Given the description of an element on the screen output the (x, y) to click on. 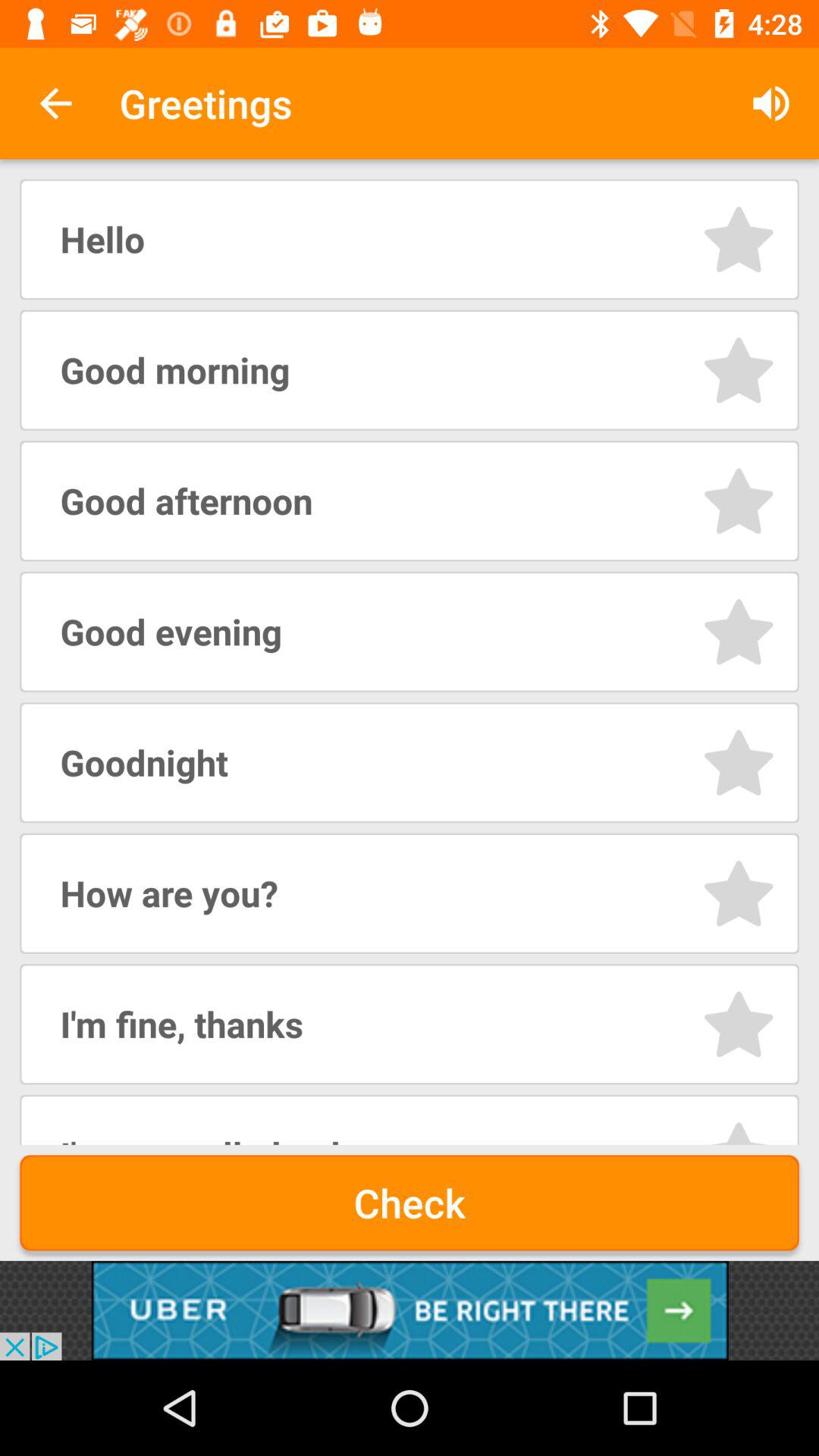
go to rate (738, 1131)
